Given the description of an element on the screen output the (x, y) to click on. 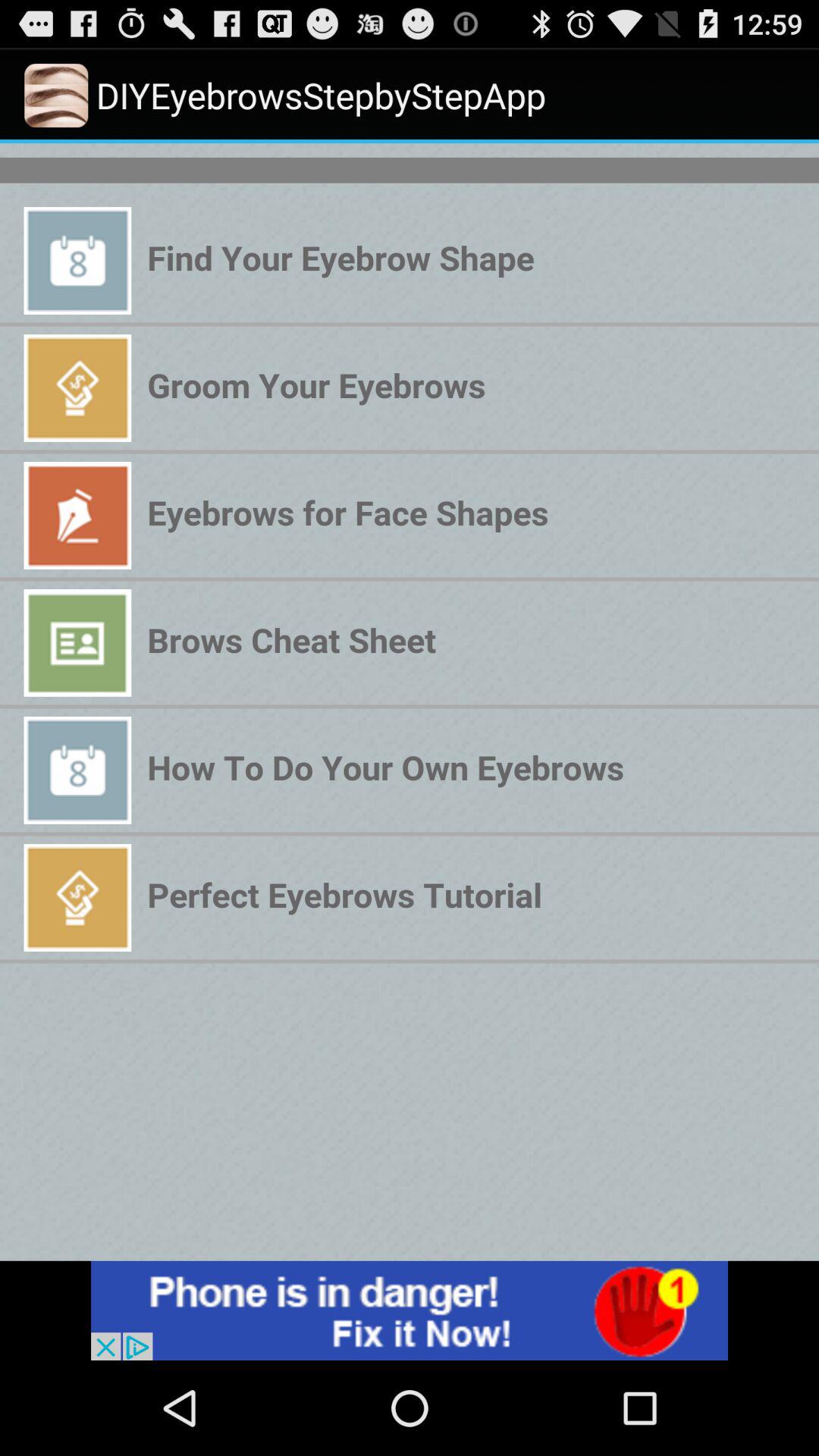
select advertisement (409, 1310)
